Given the description of an element on the screen output the (x, y) to click on. 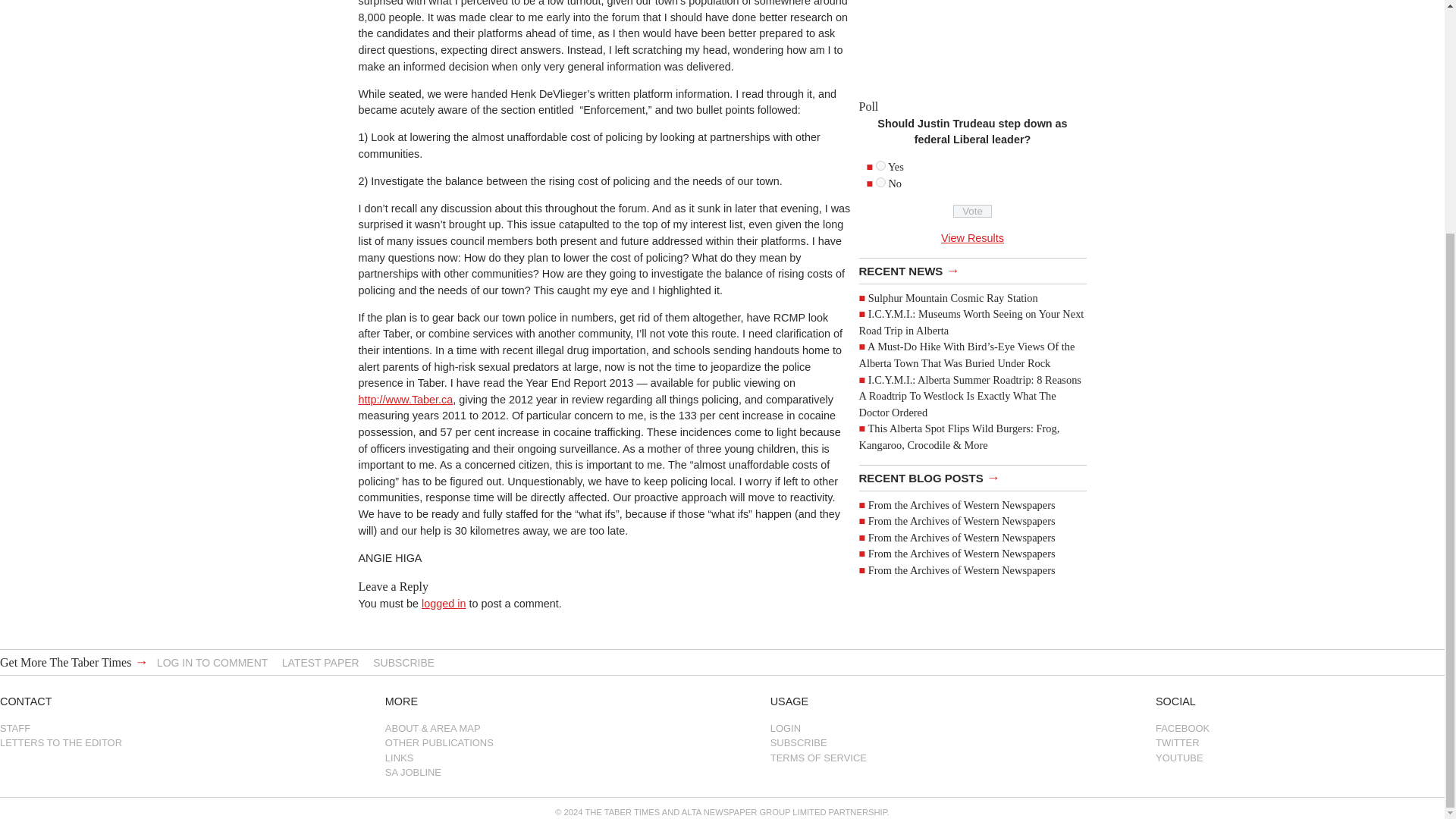
521 (880, 165)
From the Archives of Western Newspapers (961, 503)
View Results (972, 237)
Sulphur Mountain Cosmic Ray Station (952, 297)
View Results Of This Poll (972, 237)
From the Archives of Western Newspapers (961, 521)
522 (880, 182)
From the Archives of Western Newspapers (961, 570)
From the Archives of Western Newspapers (961, 537)
3rd party ad content (972, 42)
From the Archives of Western Newspapers (961, 553)
   Vote    (972, 210)
